Given the description of an element on the screen output the (x, y) to click on. 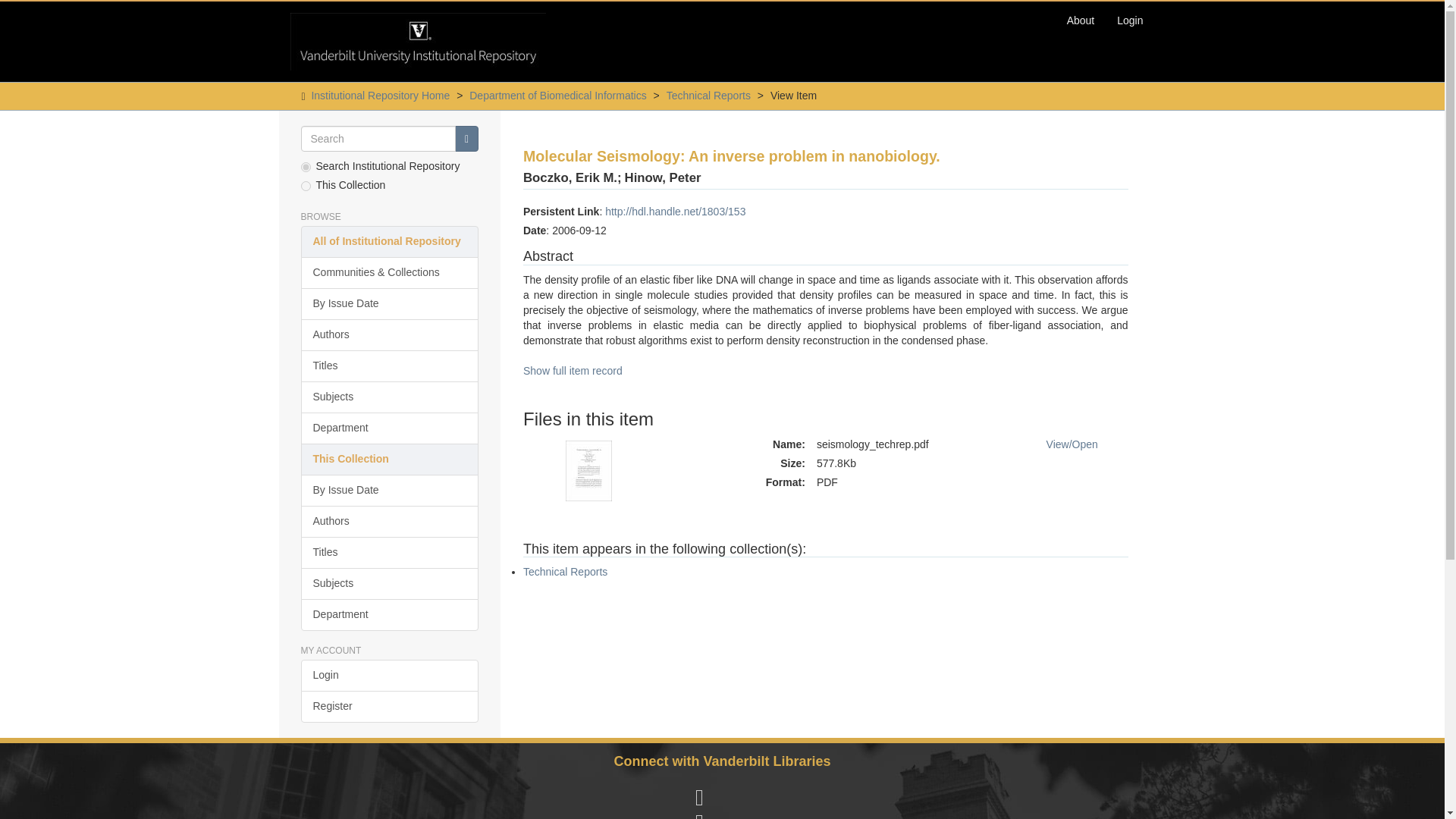
Go (466, 138)
This Collection (389, 459)
follow us on facebook (699, 797)
Technical Reports (564, 571)
By Issue Date (389, 490)
Titles (389, 552)
Connect with Vanderbilt Libraries (720, 761)
Authors (389, 521)
Subjects (389, 583)
Department (389, 428)
Login (1129, 20)
Titles (389, 366)
Technical Reports (708, 95)
Institutional Repository Home (380, 95)
Register (389, 706)
